Given the description of an element on the screen output the (x, y) to click on. 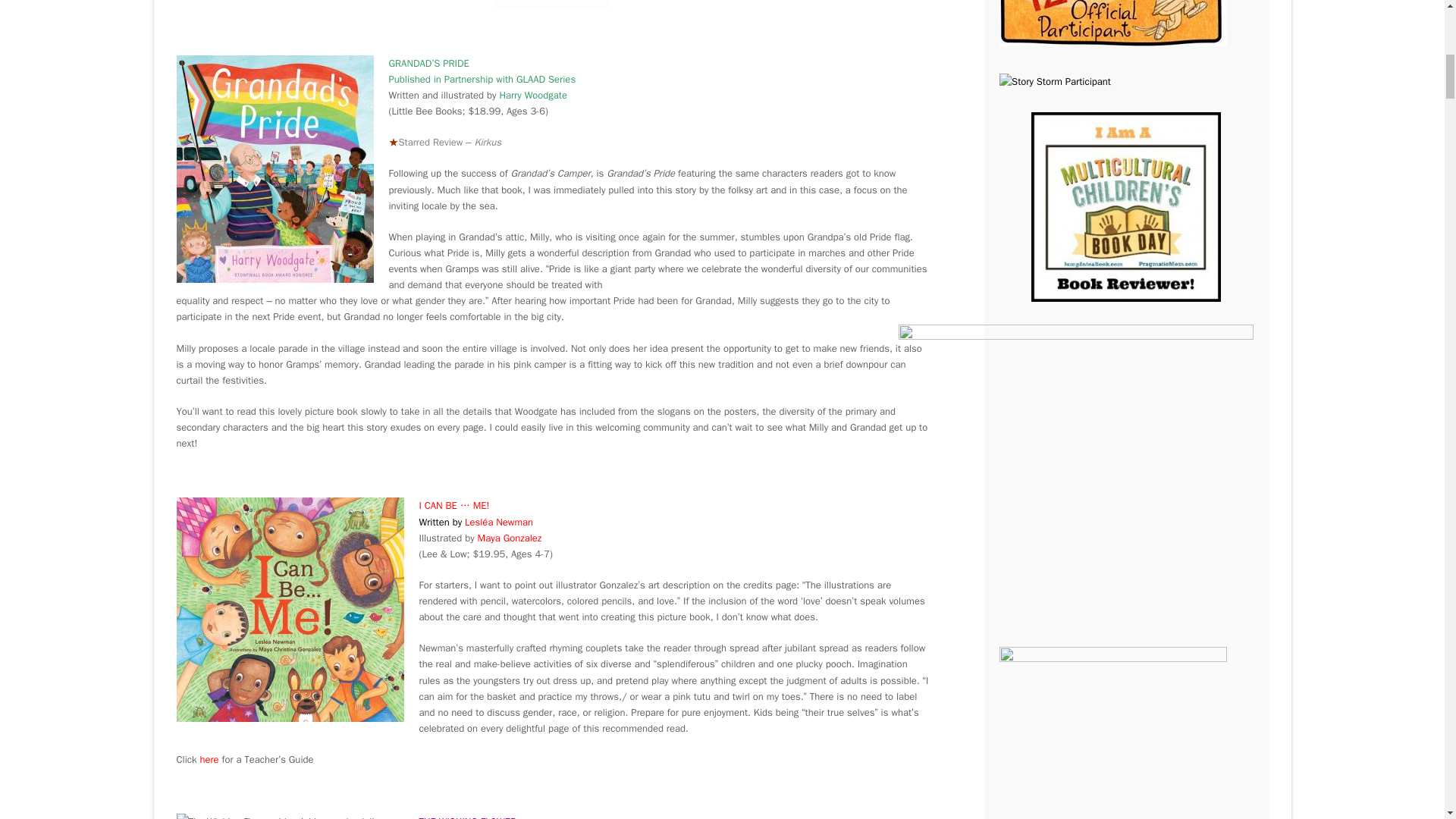
THE WISHING FLOWER (467, 816)
cover art by Maya Gonzalez from I Can Be Me!  (289, 609)
Pride rainbow graphic for roundup (553, 4)
Maya Gonzalez (509, 537)
Harry Woodgate (533, 94)
here (207, 758)
cover art by Kip Alizadeh from The Wishing Flower  (289, 816)
